Given the description of an element on the screen output the (x, y) to click on. 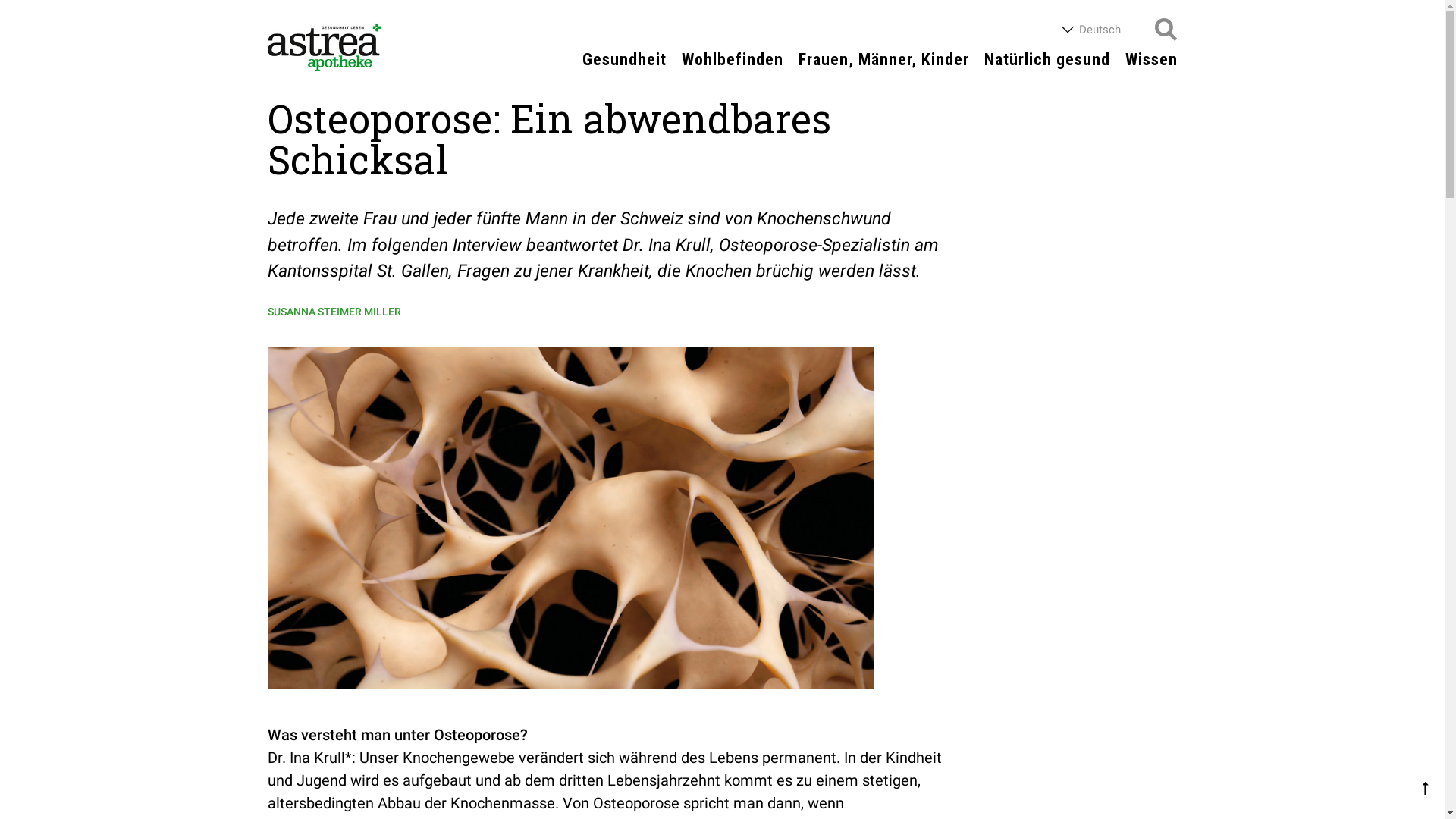
SUSANNA STEIMER MILLER Element type: text (333, 310)
Wohlbefinden Element type: text (731, 59)
Gesundheit Element type: text (624, 59)
Wissen Element type: text (1151, 59)
